Given the description of an element on the screen output the (x, y) to click on. 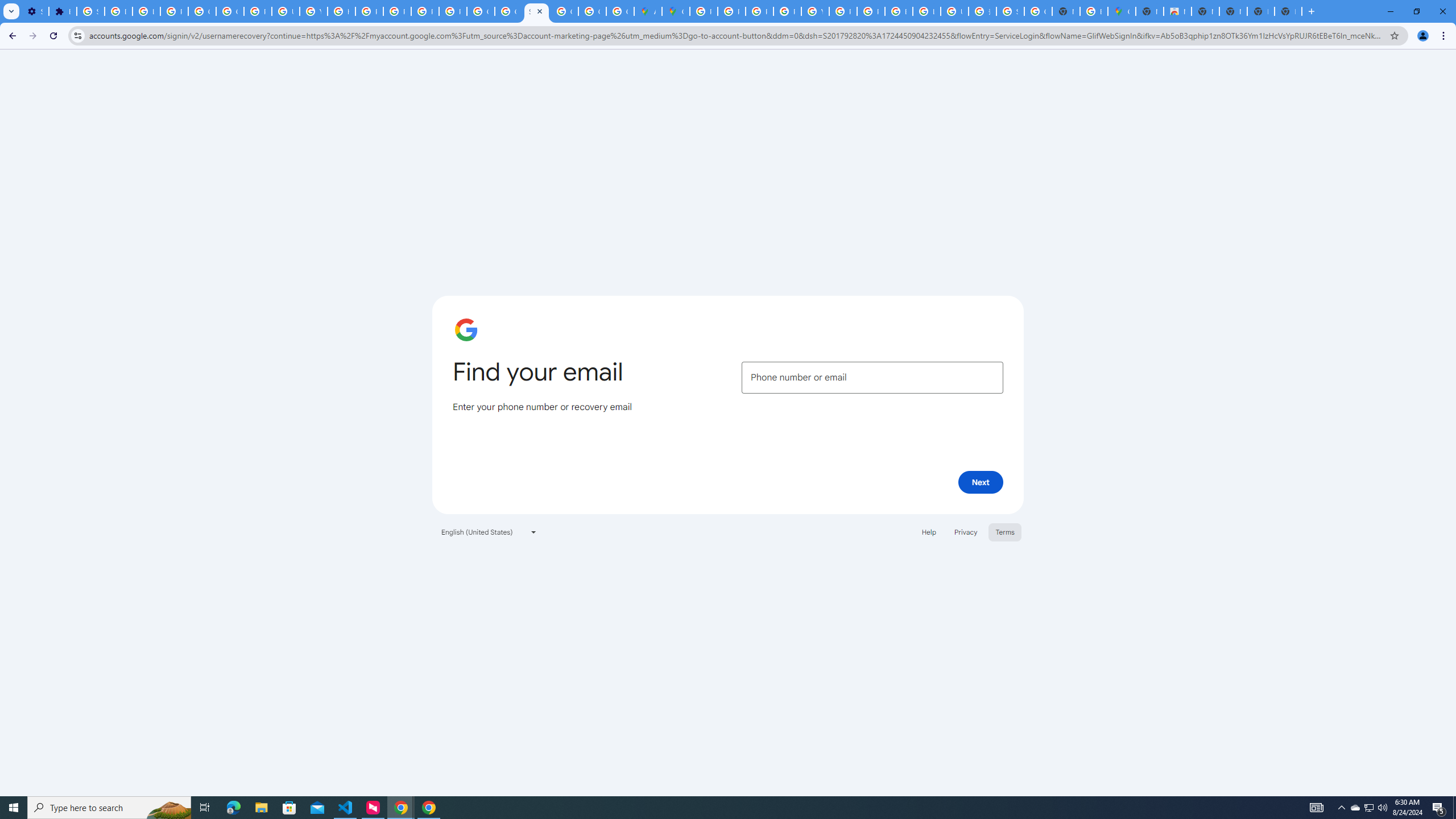
YouTube (815, 11)
Privacy (965, 531)
Settings - On startup (34, 11)
Sign in - Google Accounts (1010, 11)
